Given the description of an element on the screen output the (x, y) to click on. 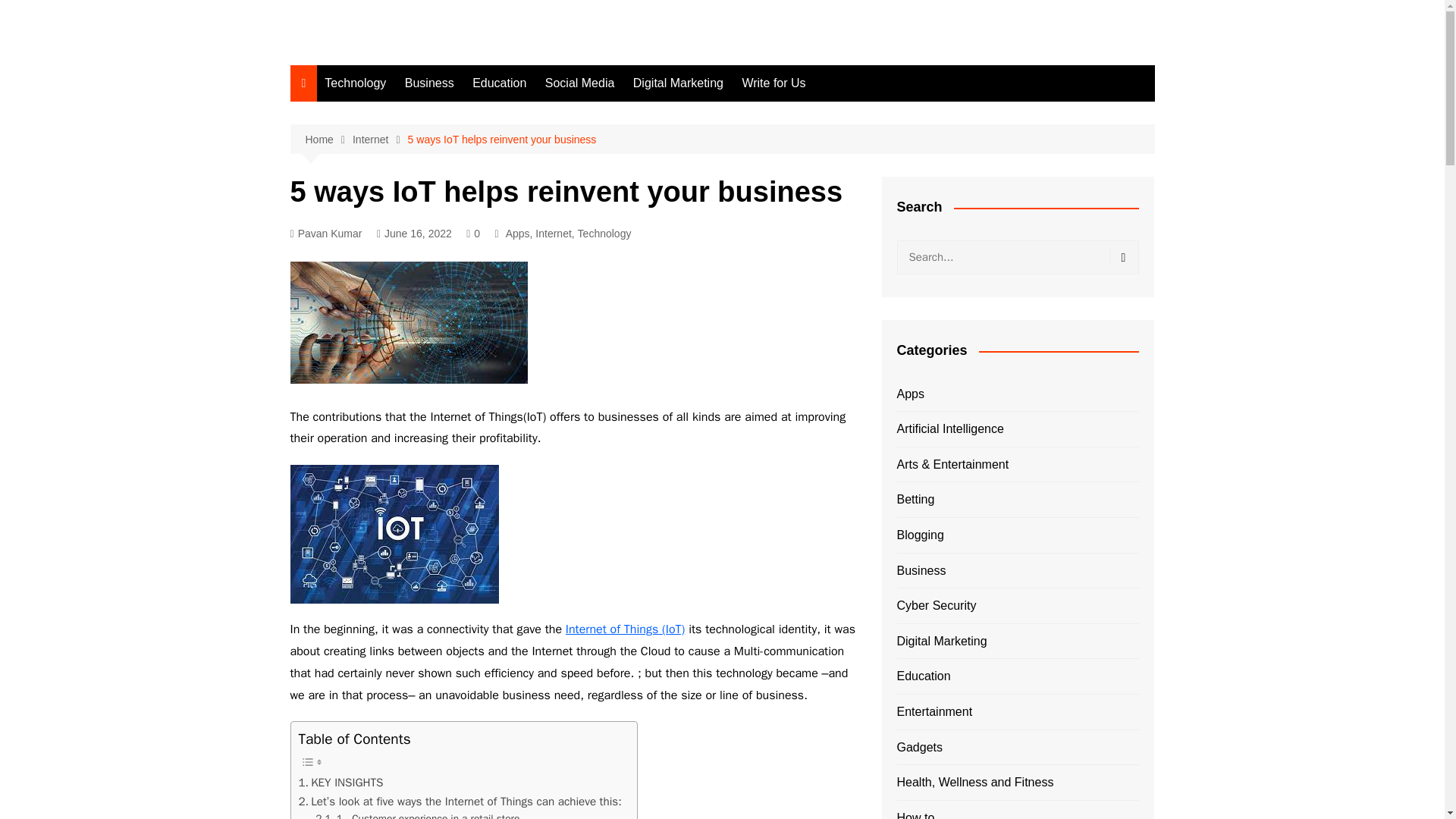
Education (499, 83)
Write for Us (772, 83)
Internet (379, 139)
Technology (604, 233)
KEY INSIGHTS (341, 782)
Apps (517, 233)
Technology (355, 83)
Digital Marketing (678, 83)
5 ways IoT helps reinvent your business (501, 139)
Pavan Kumar (325, 233)
June 16, 2022 (414, 233)
Internet (552, 233)
1.- Customer experience in a retail store (417, 814)
KEY INSIGHTS (341, 782)
Business (429, 83)
